Given the description of an element on the screen output the (x, y) to click on. 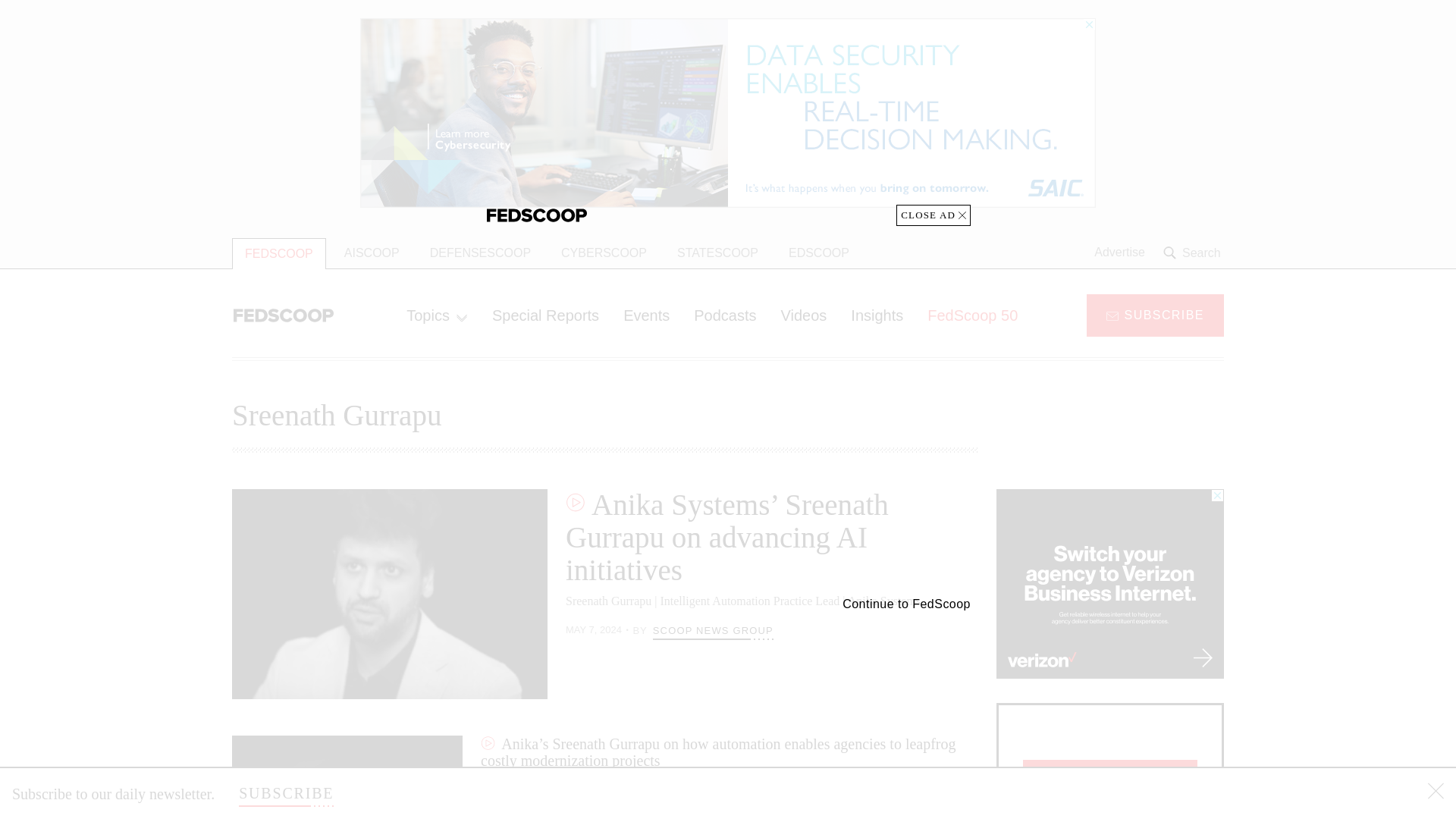
EDSCOOP (818, 253)
CYBERSCOOP (603, 253)
Insights (876, 315)
Search (1193, 252)
STATESCOOP (717, 253)
Special Reports (545, 315)
FedScoop 50 (972, 315)
Podcasts (724, 315)
